Given the description of an element on the screen output the (x, y) to click on. 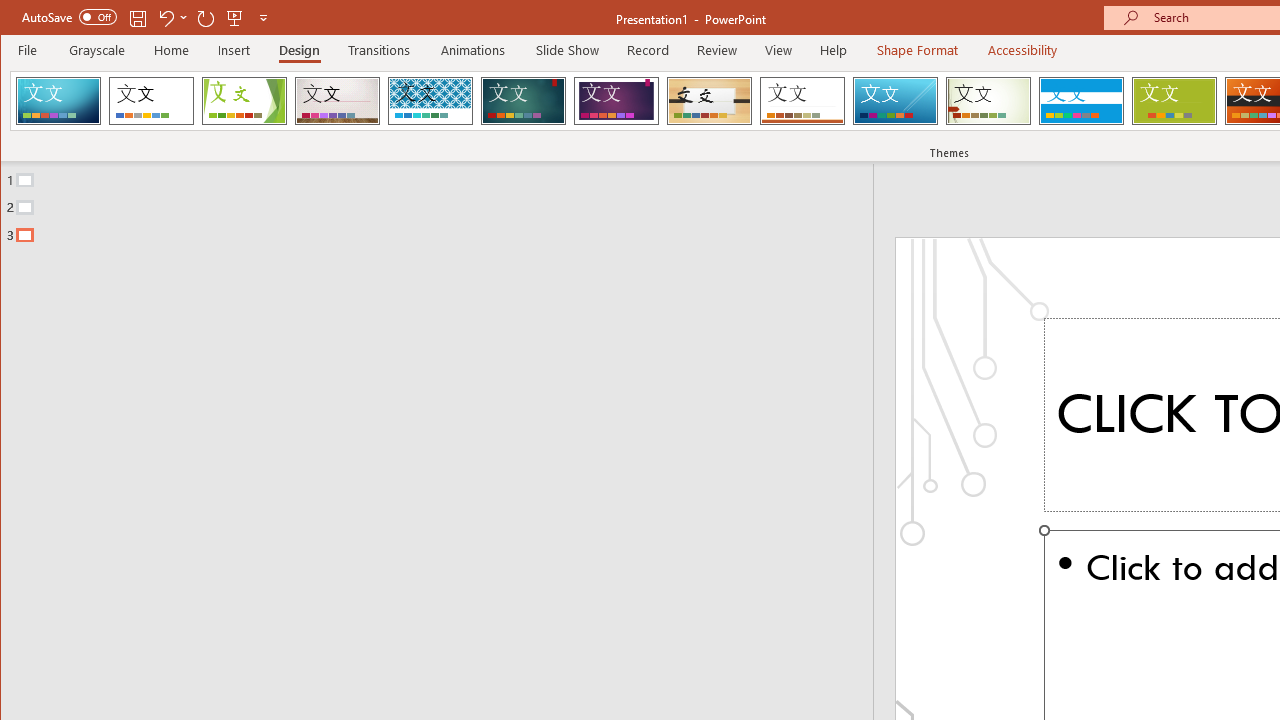
Basis (1174, 100)
Grayscale (97, 50)
Banded (1081, 100)
Gallery (337, 100)
Integral (430, 100)
Ion Boardroom (616, 100)
